Given the description of an element on the screen output the (x, y) to click on. 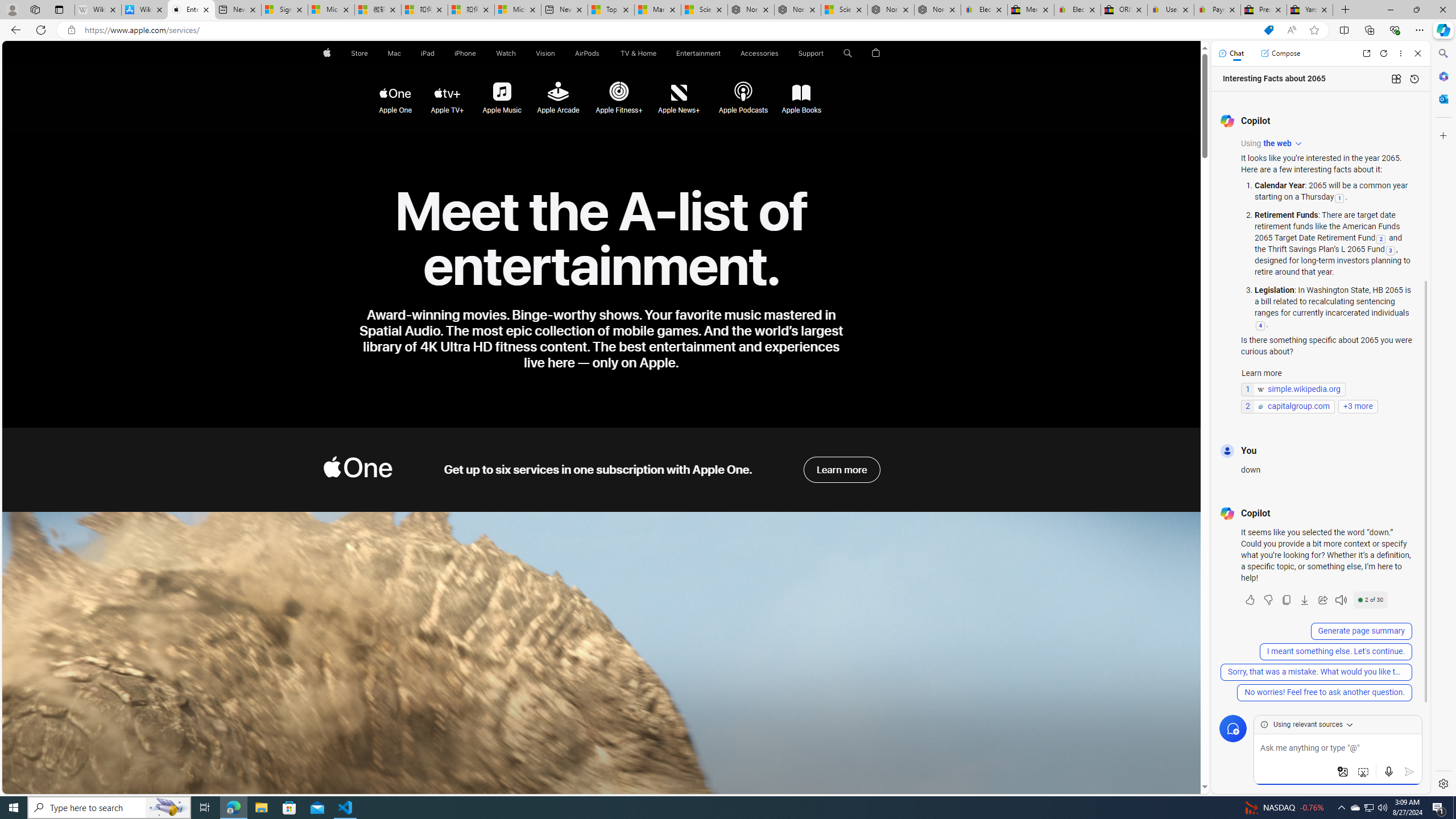
Entertainment menu (722, 53)
Support (810, 53)
Store (359, 53)
Marine life - MSN (656, 9)
Microsoft account | Account Checkup (517, 9)
Apple Music (501, 93)
